Given the description of an element on the screen output the (x, y) to click on. 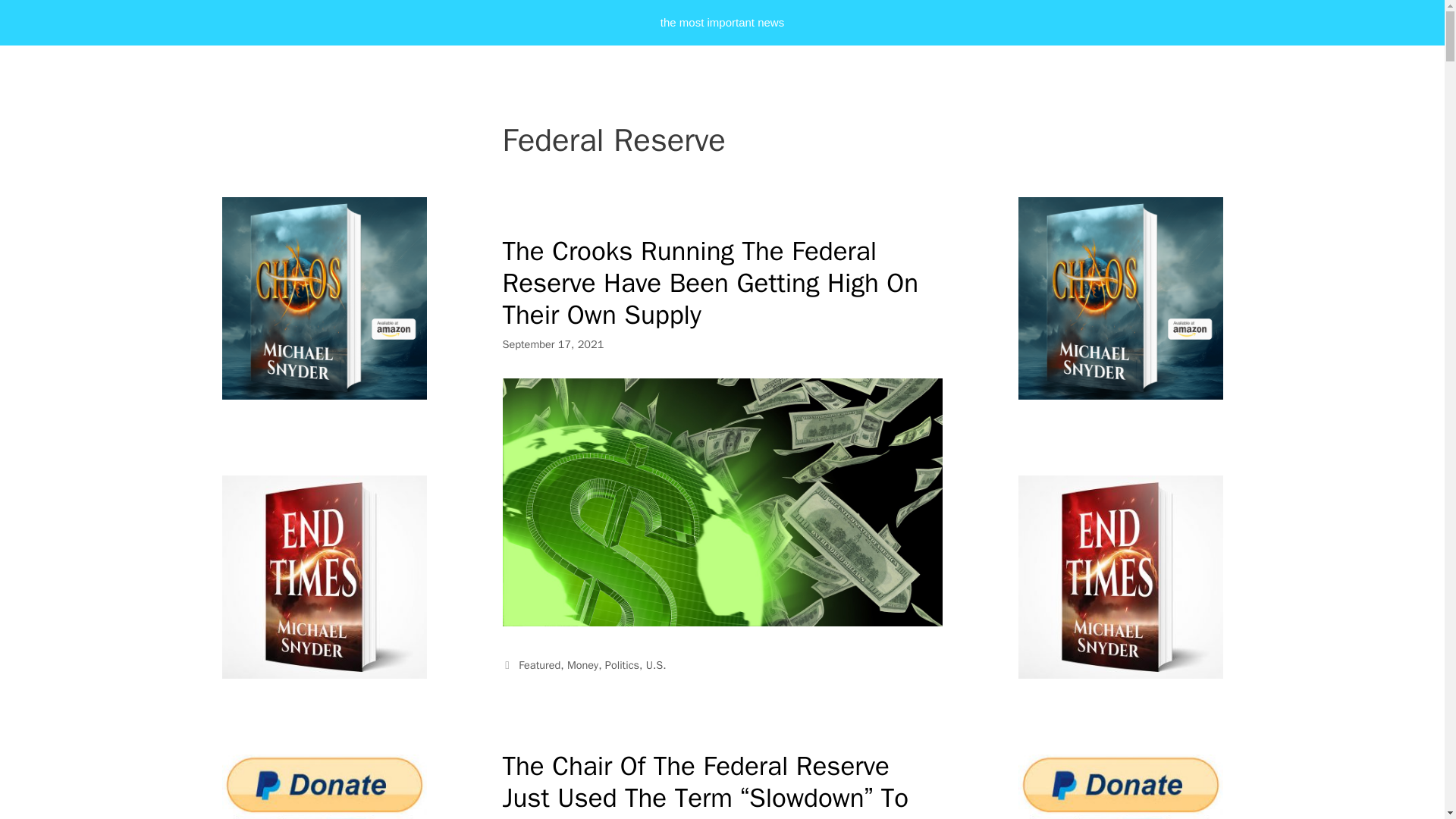
Politics (622, 664)
Featured (539, 664)
the most important news (722, 22)
U.S. (656, 664)
Money (582, 664)
Money (582, 664)
Featured (539, 664)
